Given the description of an element on the screen output the (x, y) to click on. 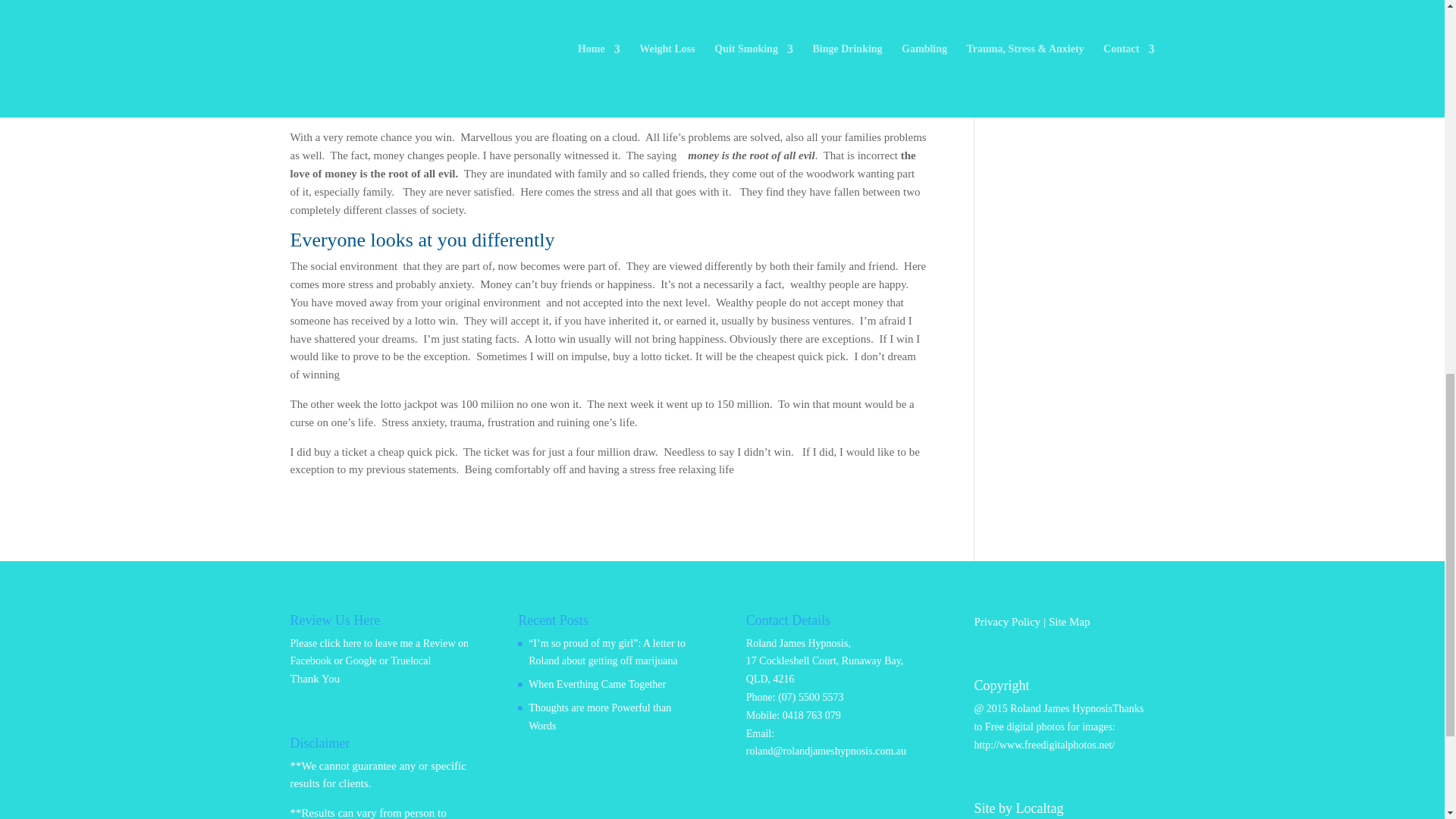
Thoughts are more Powerful than Words (599, 716)
Site Map (1069, 621)
Privacy Policy (1007, 621)
When Everthing Came Together (596, 684)
